Given the description of an element on the screen output the (x, y) to click on. 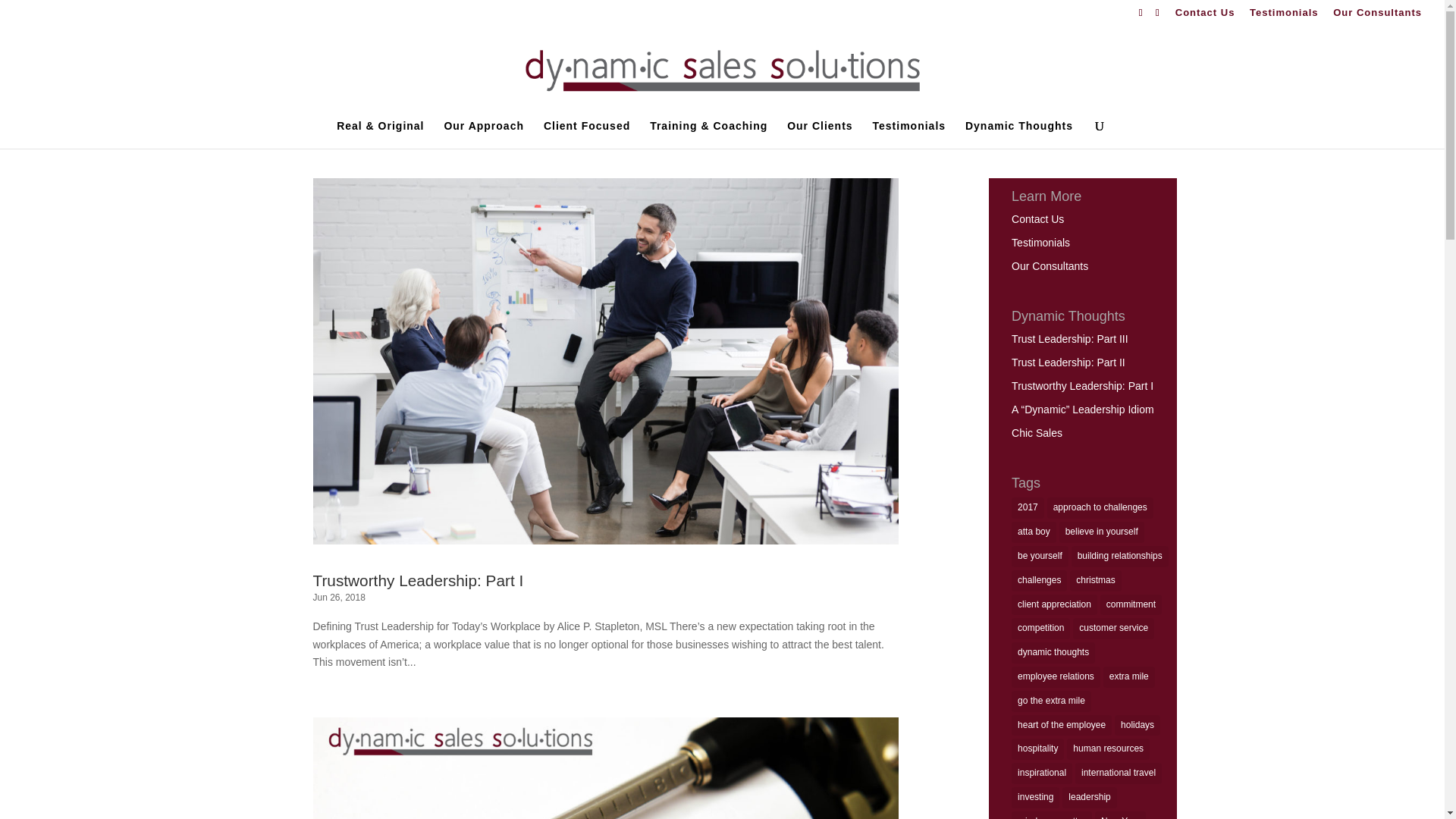
Our Consultants (1049, 265)
2017 (1027, 507)
Chic Sales (1036, 432)
Our Approach (484, 134)
Client Focused (586, 134)
Testimonials (1284, 16)
Our Clients (819, 134)
believe in yourself (1101, 531)
approach to challenges (1099, 507)
Testimonials (1040, 242)
